Given the description of an element on the screen output the (x, y) to click on. 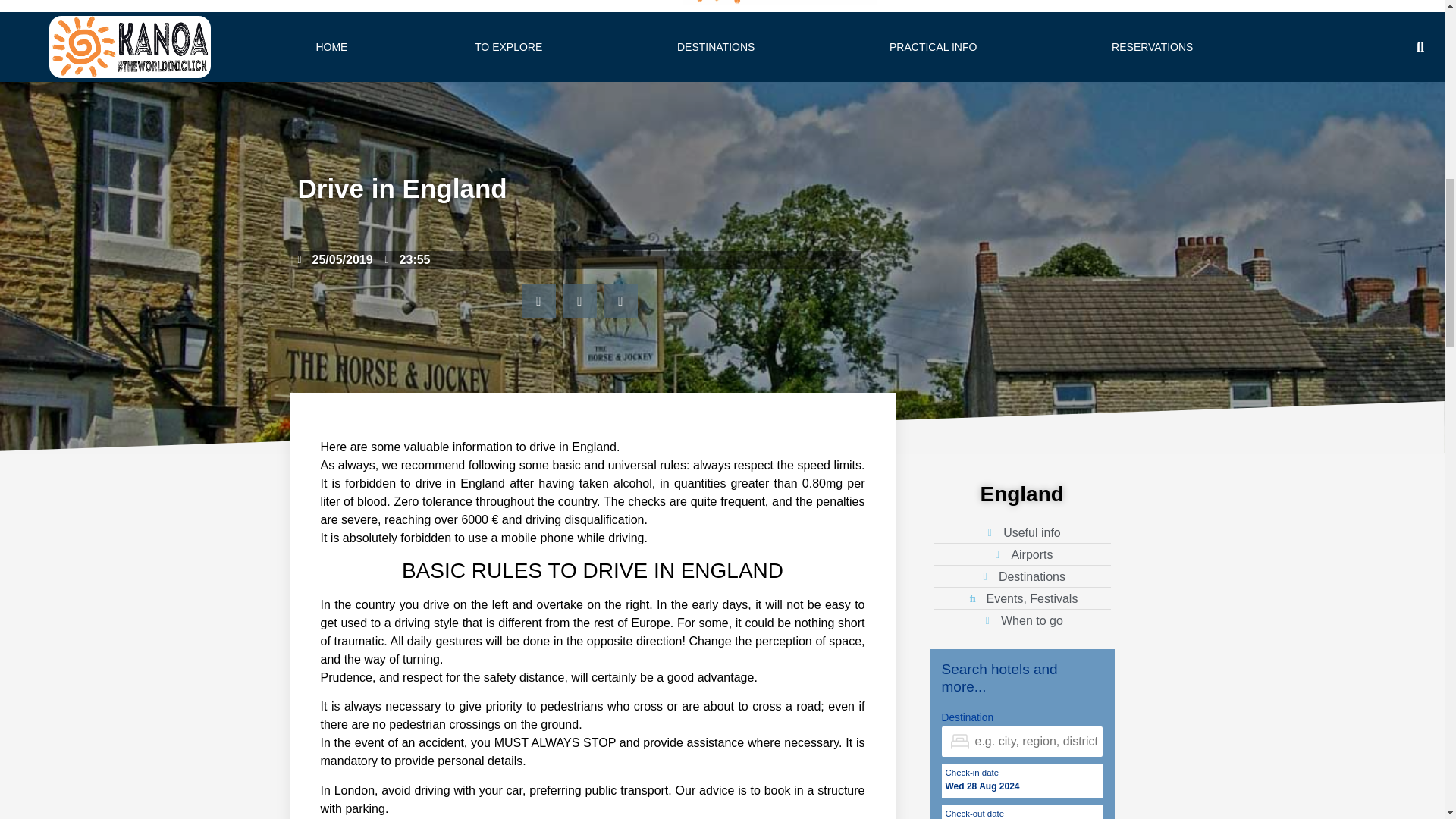
PRACTICAL INFO (936, 46)
TO EXPLORE (511, 46)
HOME (331, 46)
e.g. city, region, district or specific hotel (1022, 741)
DESTINATIONS (718, 46)
